Given the description of an element on the screen output the (x, y) to click on. 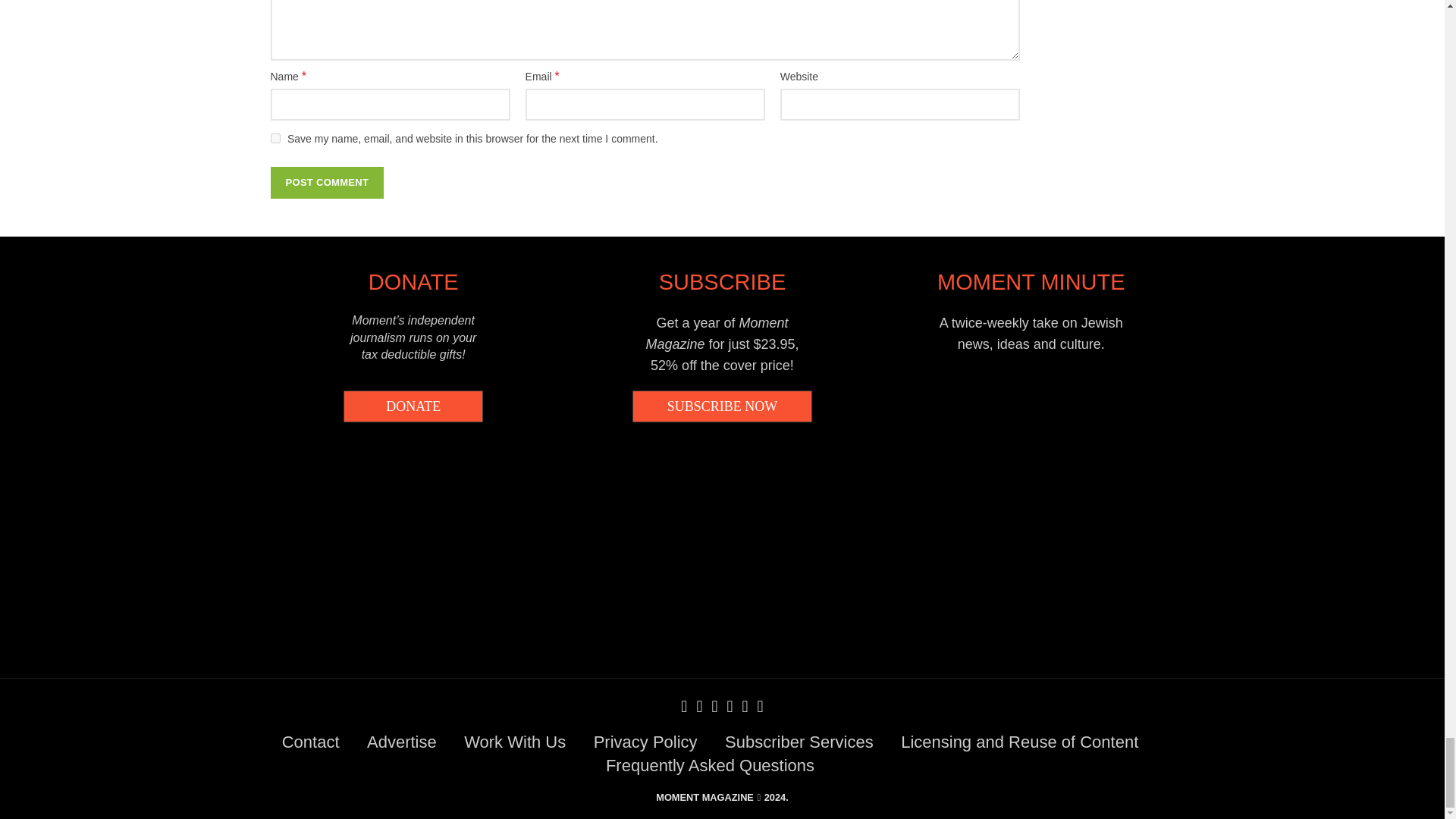
yes (274, 138)
Post Comment (326, 183)
